Given the description of an element on the screen output the (x, y) to click on. 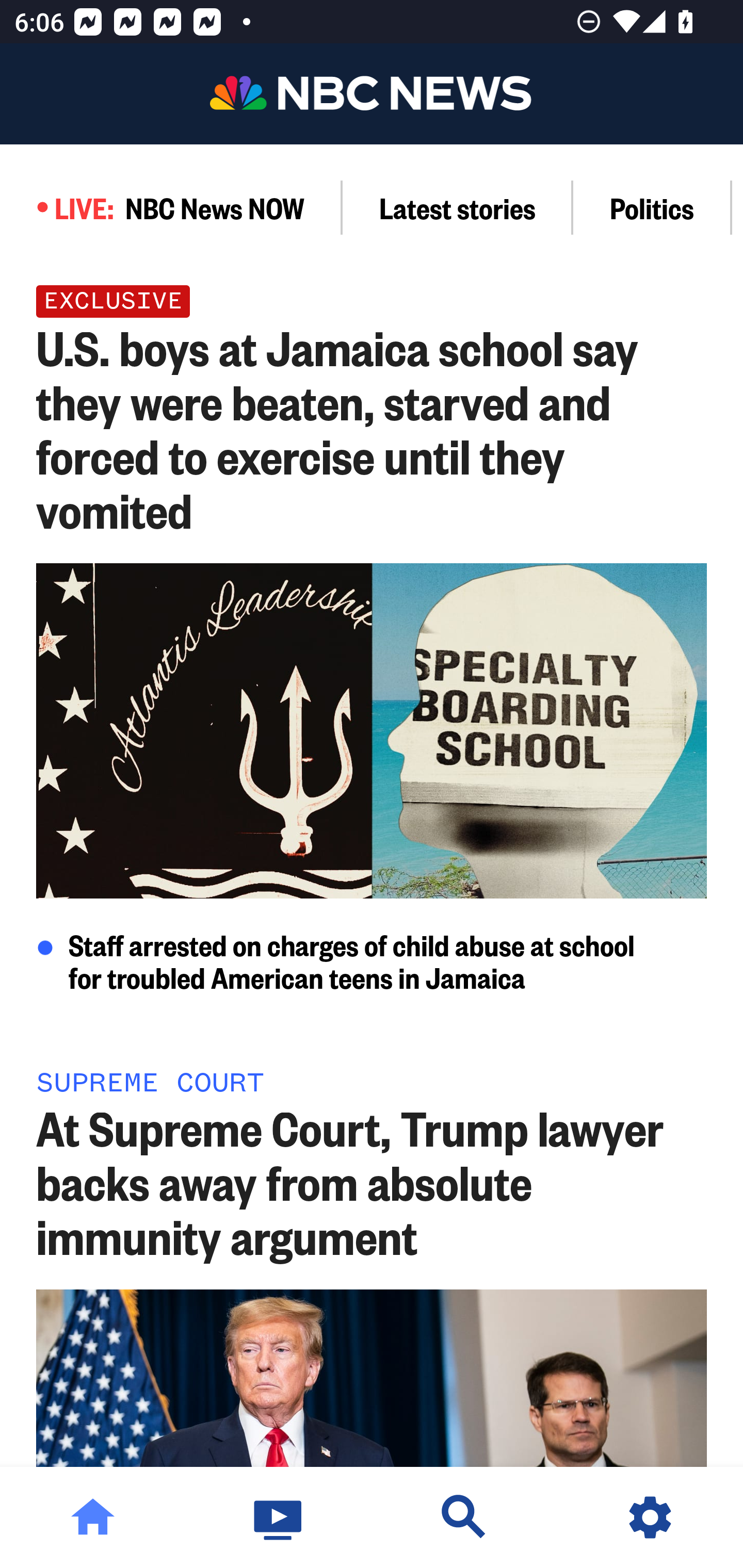
LIVE:  NBC News NOW (171, 207)
Latest stories Section,Latest stories (457, 207)
Politics Section,Politics (652, 207)
Watch (278, 1517)
Discover (464, 1517)
Settings (650, 1517)
